Given the description of an element on the screen output the (x, y) to click on. 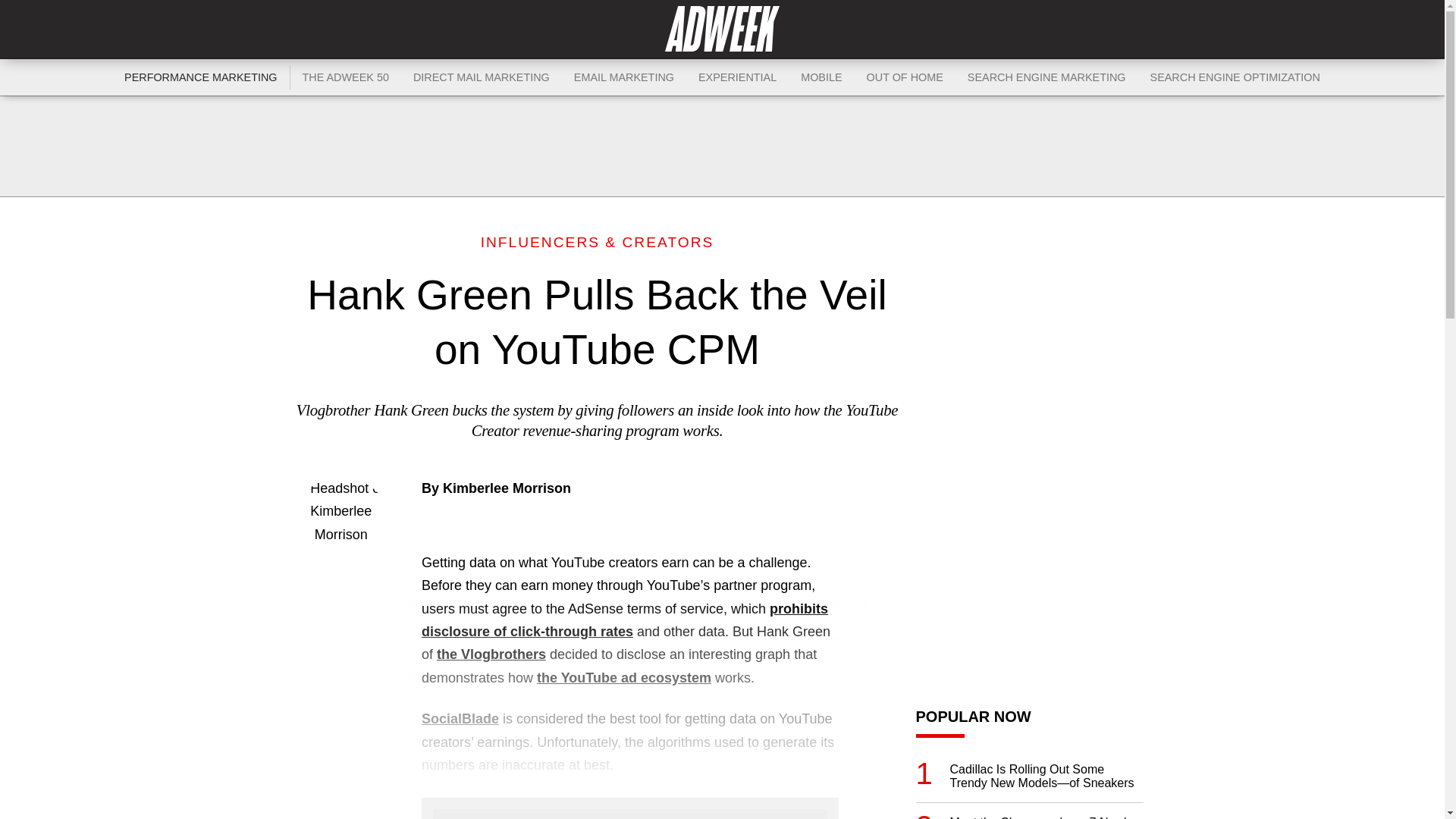
Meet the Changemakers: 7 Newly Appointed CMOs to Watch (1045, 817)
DIRECT MAIL MARKETING (481, 77)
SEARCH ENGINE OPTIMIZATION (1235, 77)
EMAIL MARKETING (623, 77)
EXPERIENTIAL (737, 77)
THE ADWEEK 50 (345, 77)
the Vlogbrothers (491, 654)
the YouTube ad ecosystem (624, 677)
Kimberlee Morrison (506, 488)
SocialBlade (460, 718)
